Given the description of an element on the screen output the (x, y) to click on. 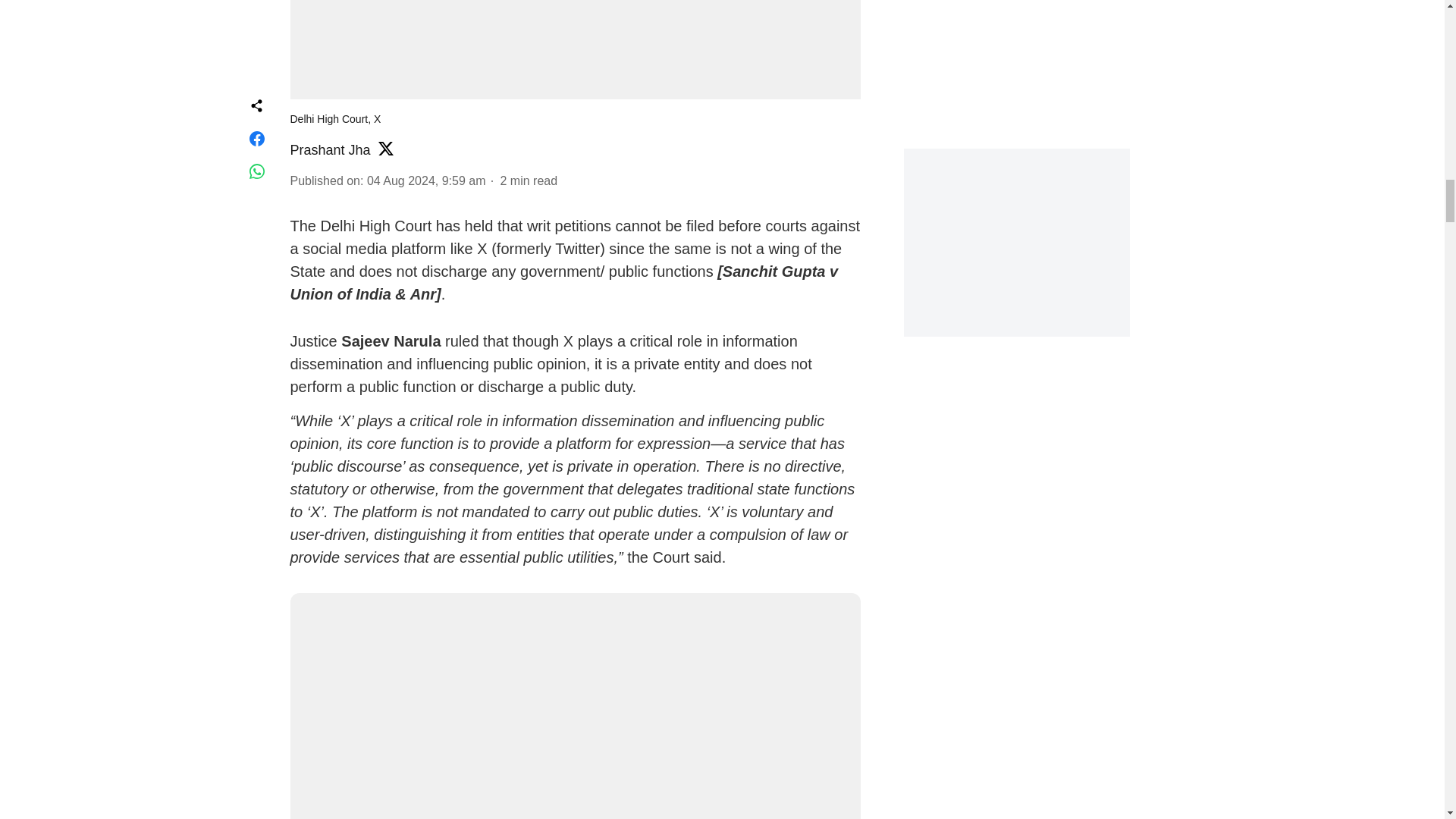
2024-08-04 01:59 (426, 180)
